Given the description of an element on the screen output the (x, y) to click on. 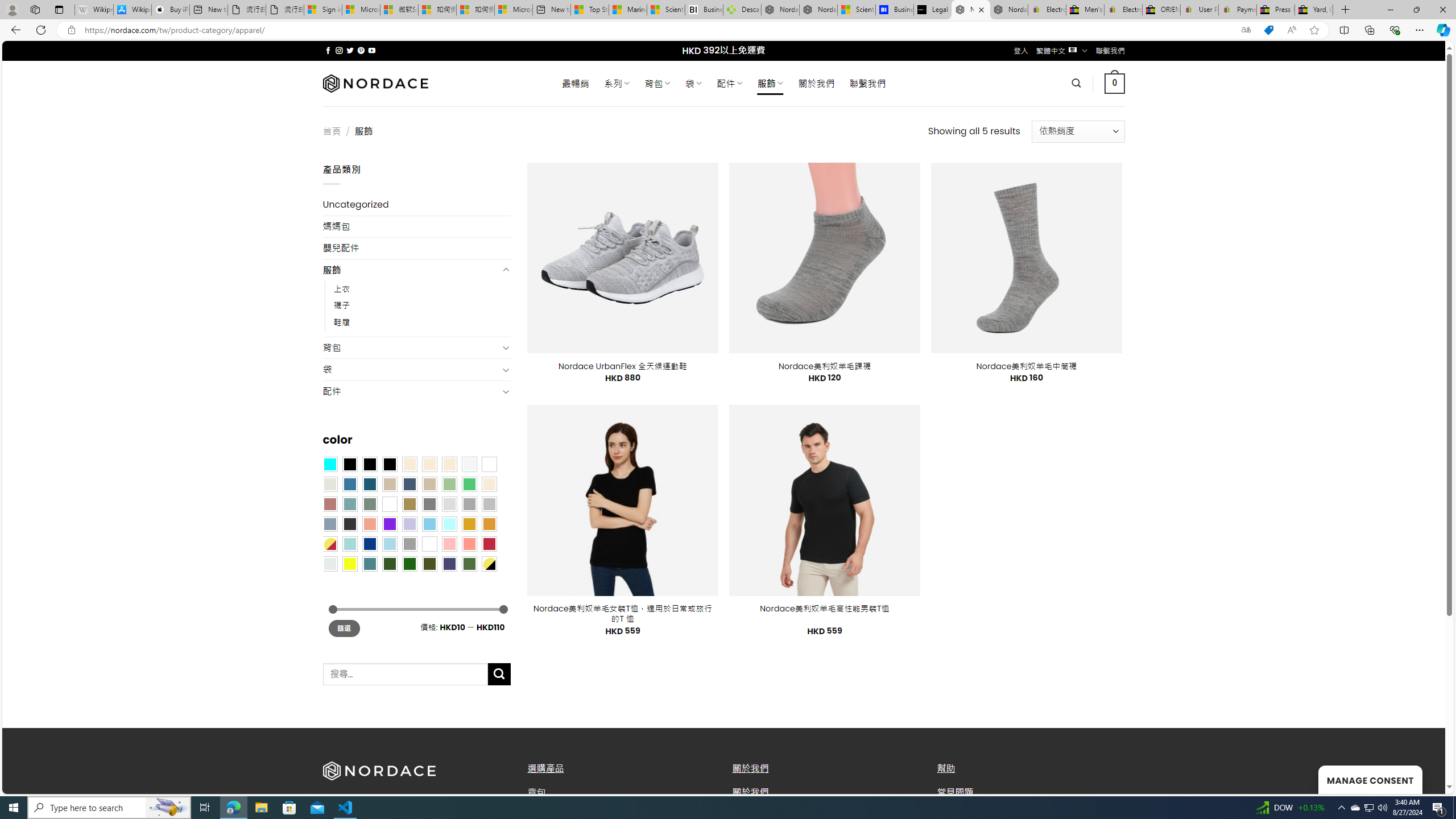
Microsoft account | Account Checkup (513, 9)
Follow on Instagram (338, 50)
